Given the description of an element on the screen output the (x, y) to click on. 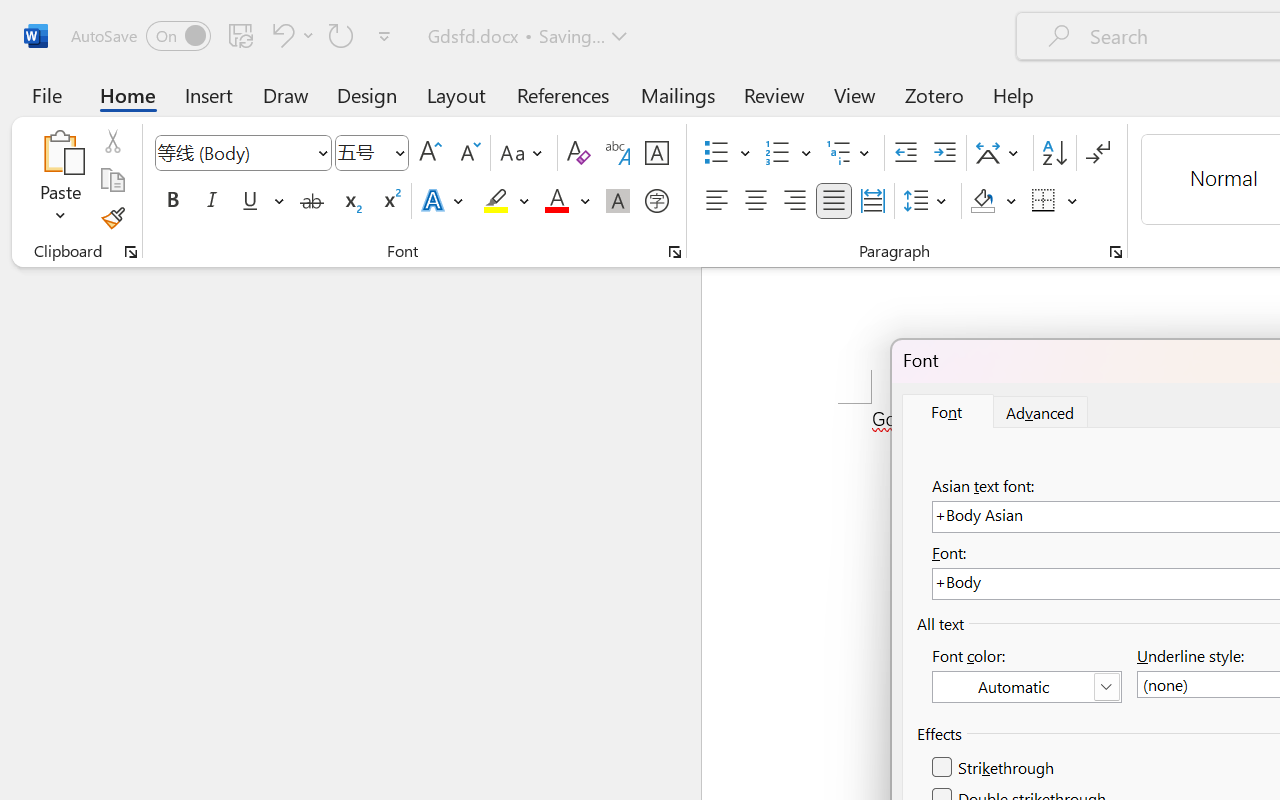
Undo Style (290, 35)
Grow Font (430, 153)
Shading RGB(0, 0, 0) (982, 201)
Advanced (1041, 411)
Undo Style (280, 35)
Text Effects and Typography (444, 201)
Sort... (1054, 153)
